Given the description of an element on the screen output the (x, y) to click on. 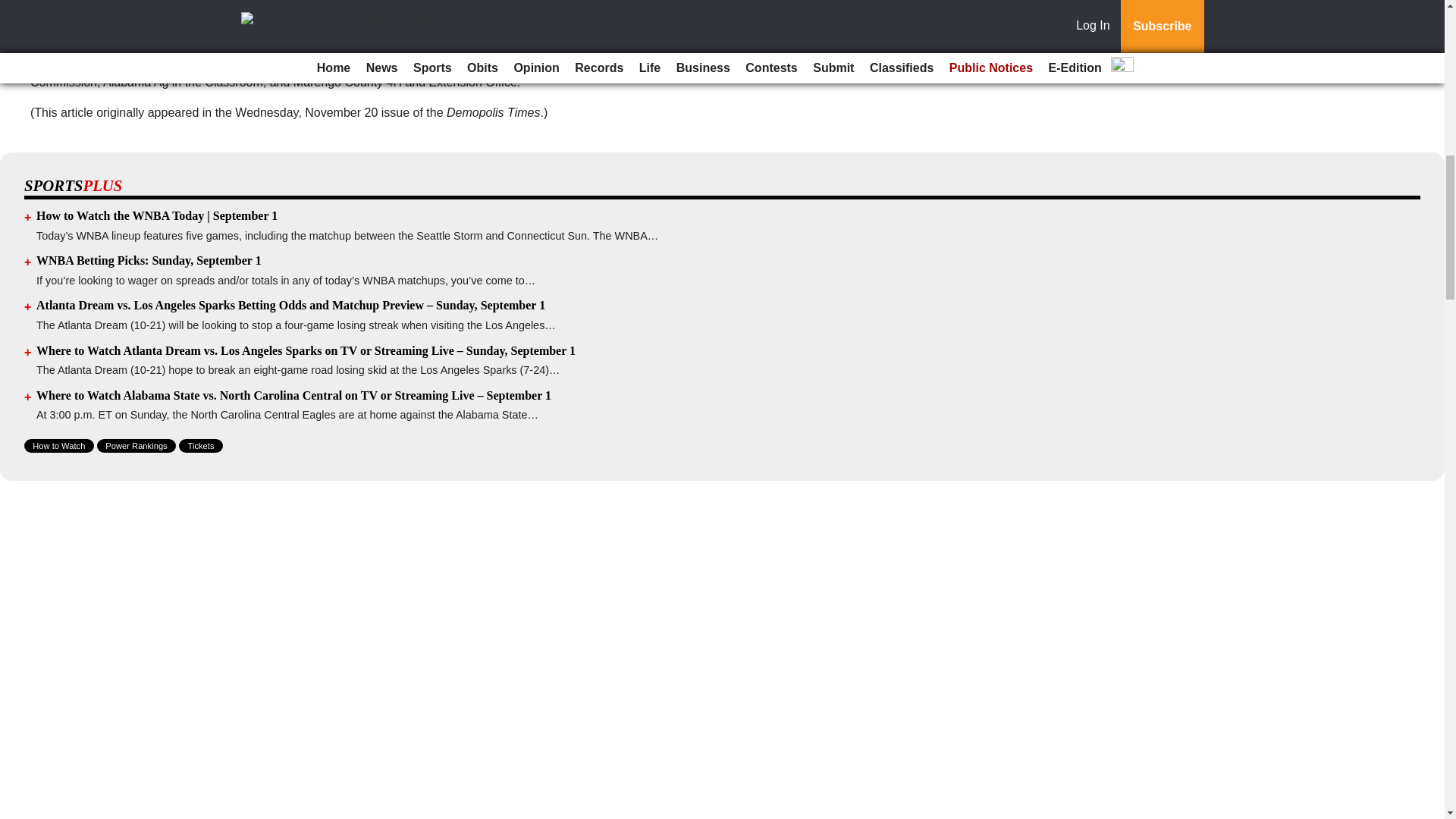
Tickets (200, 445)
How to Watch (59, 445)
WNBA Betting Picks: Sunday, September 1 (149, 259)
Power Rankings (136, 445)
